Given the description of an element on the screen output the (x, y) to click on. 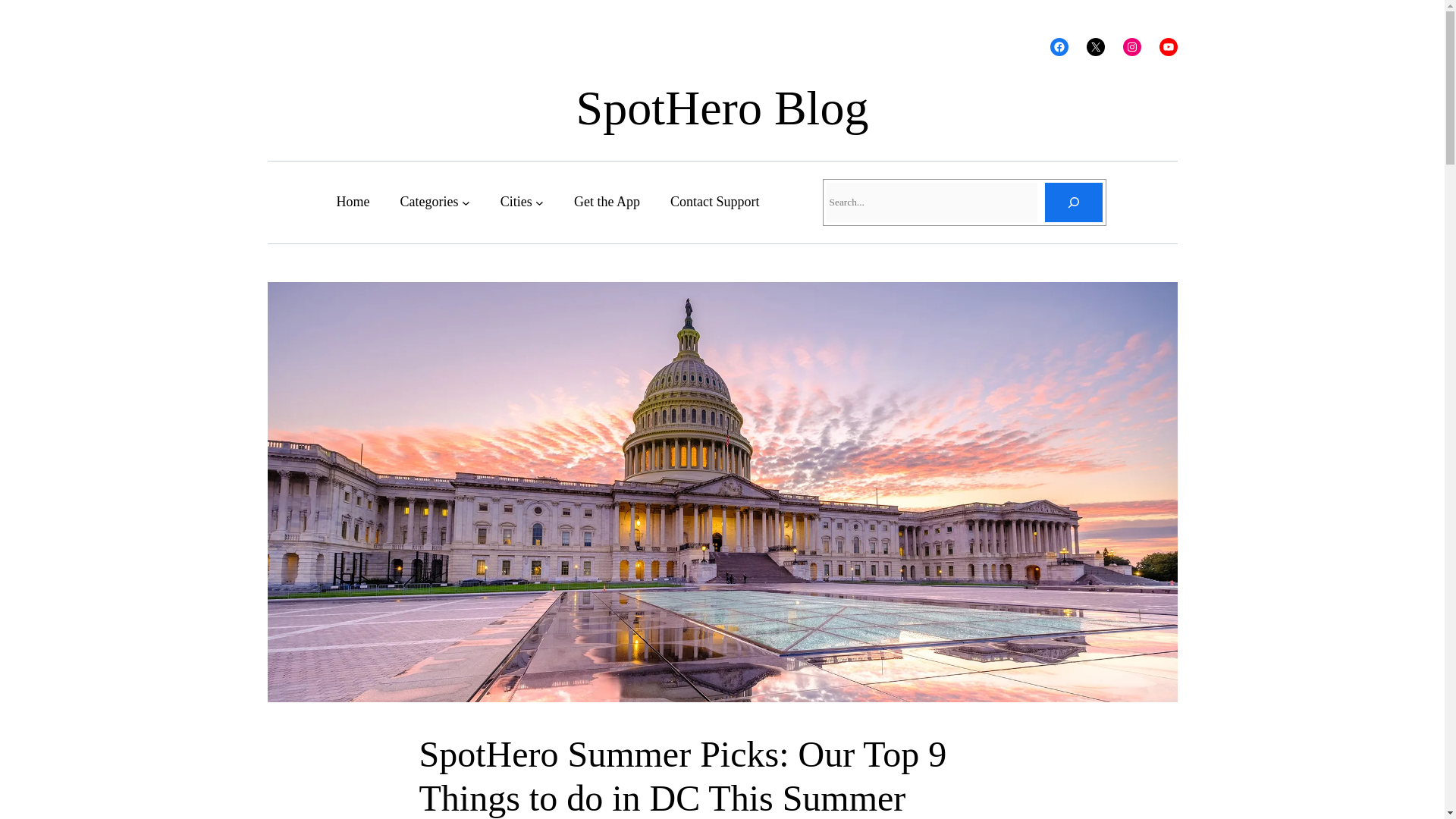
Get the App (606, 201)
Facebook (1058, 46)
X (1094, 46)
Categories (428, 201)
Instagram (1131, 46)
YouTube (1167, 46)
SpotHero Blog (722, 108)
Contact Support (714, 201)
Home (352, 201)
Cities (516, 201)
